Given the description of an element on the screen output the (x, y) to click on. 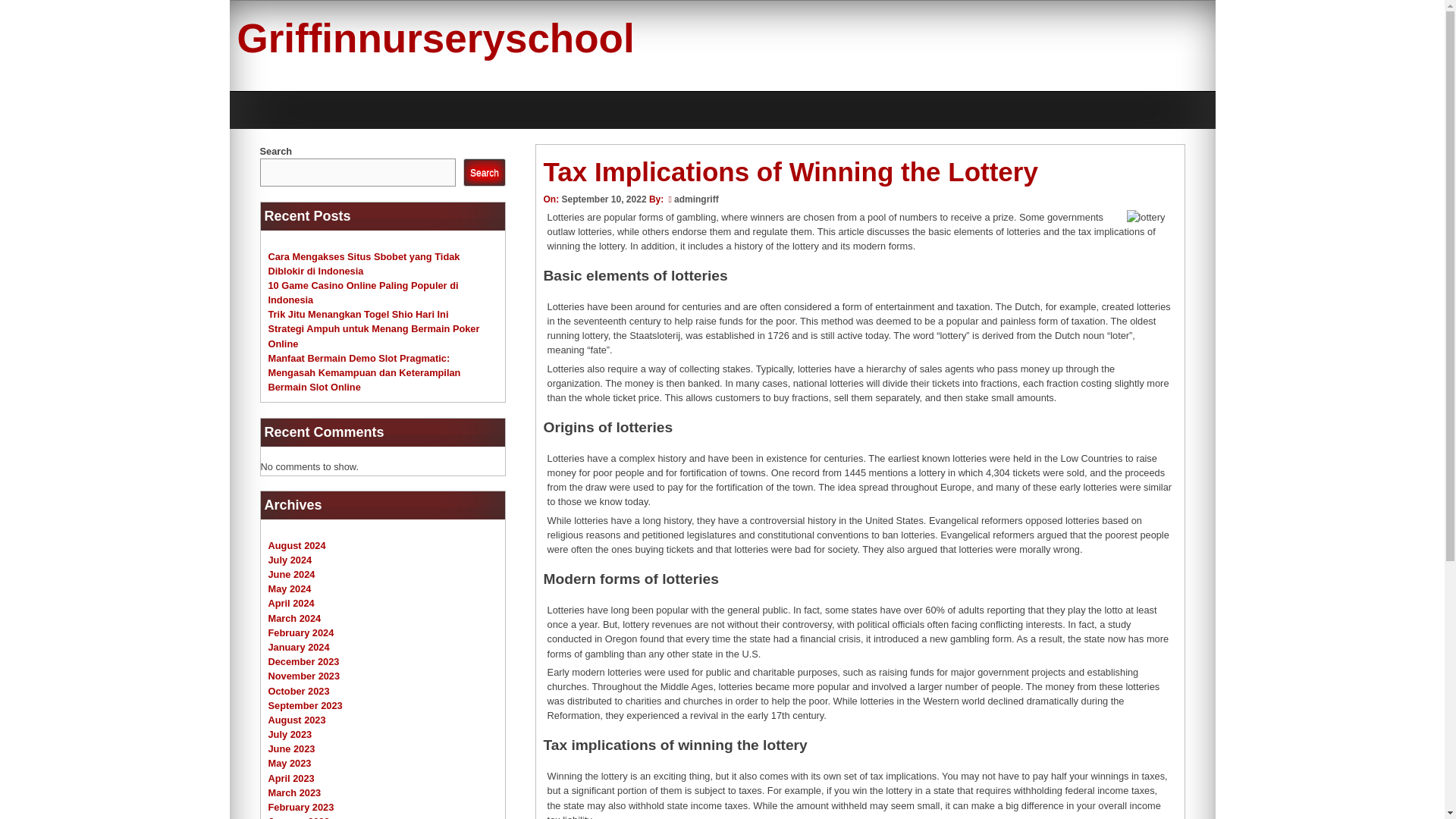
February 2023 (300, 807)
September 10, 2022 (603, 199)
February 2024 (300, 632)
March 2024 (294, 618)
March 2023 (294, 792)
10 Game Casino Online Paling Populer di Indonesia (362, 292)
October 2023 (298, 690)
Search (484, 172)
Trik Jitu Menangkan Togel Shio Hari Ini (357, 314)
